Given the description of an element on the screen output the (x, y) to click on. 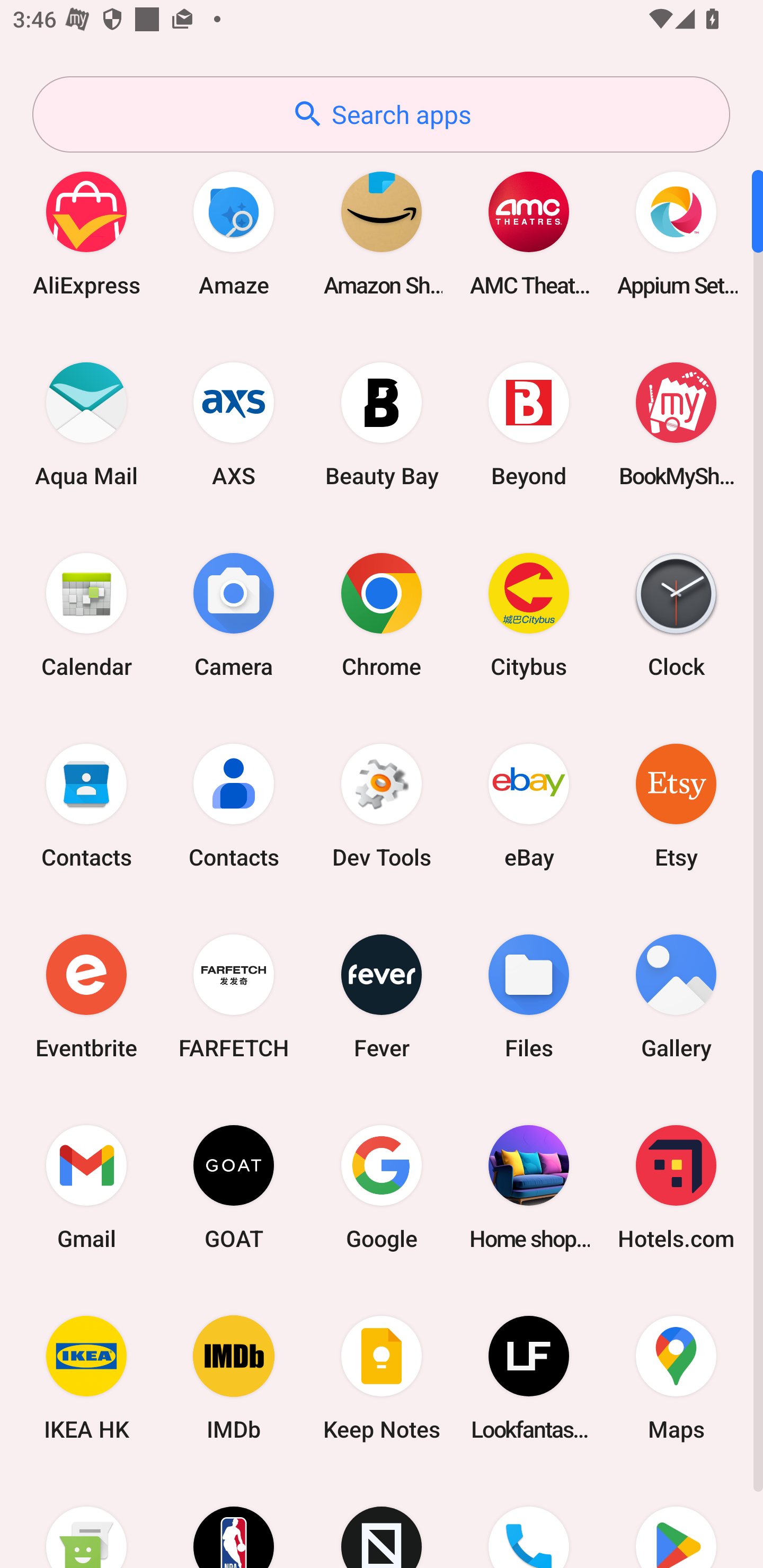
  Search apps (381, 114)
AliExpress (86, 233)
Amaze (233, 233)
Amazon Shopping (381, 233)
AMC Theatres (528, 233)
Appium Settings (676, 233)
Aqua Mail (86, 424)
AXS (233, 424)
Beauty Bay (381, 424)
Beyond (528, 424)
BookMyShow (676, 424)
Calendar (86, 614)
Camera (233, 614)
Chrome (381, 614)
Citybus (528, 614)
Clock (676, 614)
Contacts (86, 805)
Contacts (233, 805)
Dev Tools (381, 805)
eBay (528, 805)
Etsy (676, 805)
Eventbrite (86, 996)
FARFETCH (233, 996)
Fever (381, 996)
Files (528, 996)
Gallery (676, 996)
Gmail (86, 1186)
GOAT (233, 1186)
Google (381, 1186)
Home shopping (528, 1186)
Hotels.com (676, 1186)
IKEA HK (86, 1377)
IMDb (233, 1377)
Keep Notes (381, 1377)
Lookfantastic (528, 1377)
Maps (676, 1377)
